Given the description of an element on the screen output the (x, y) to click on. 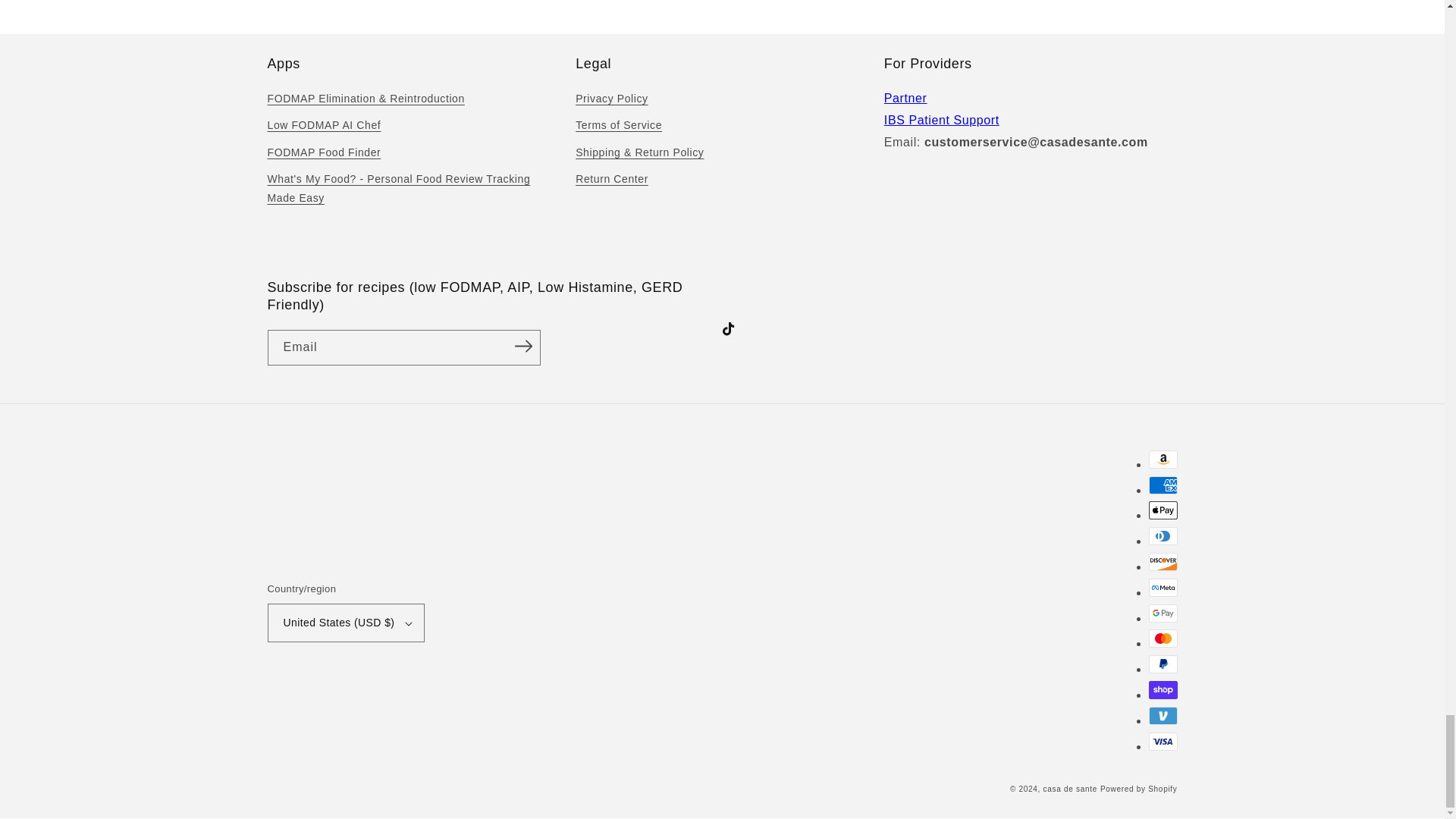
Amazon (1162, 459)
IBS Support (940, 119)
American Express (1162, 484)
